Given the description of an element on the screen output the (x, y) to click on. 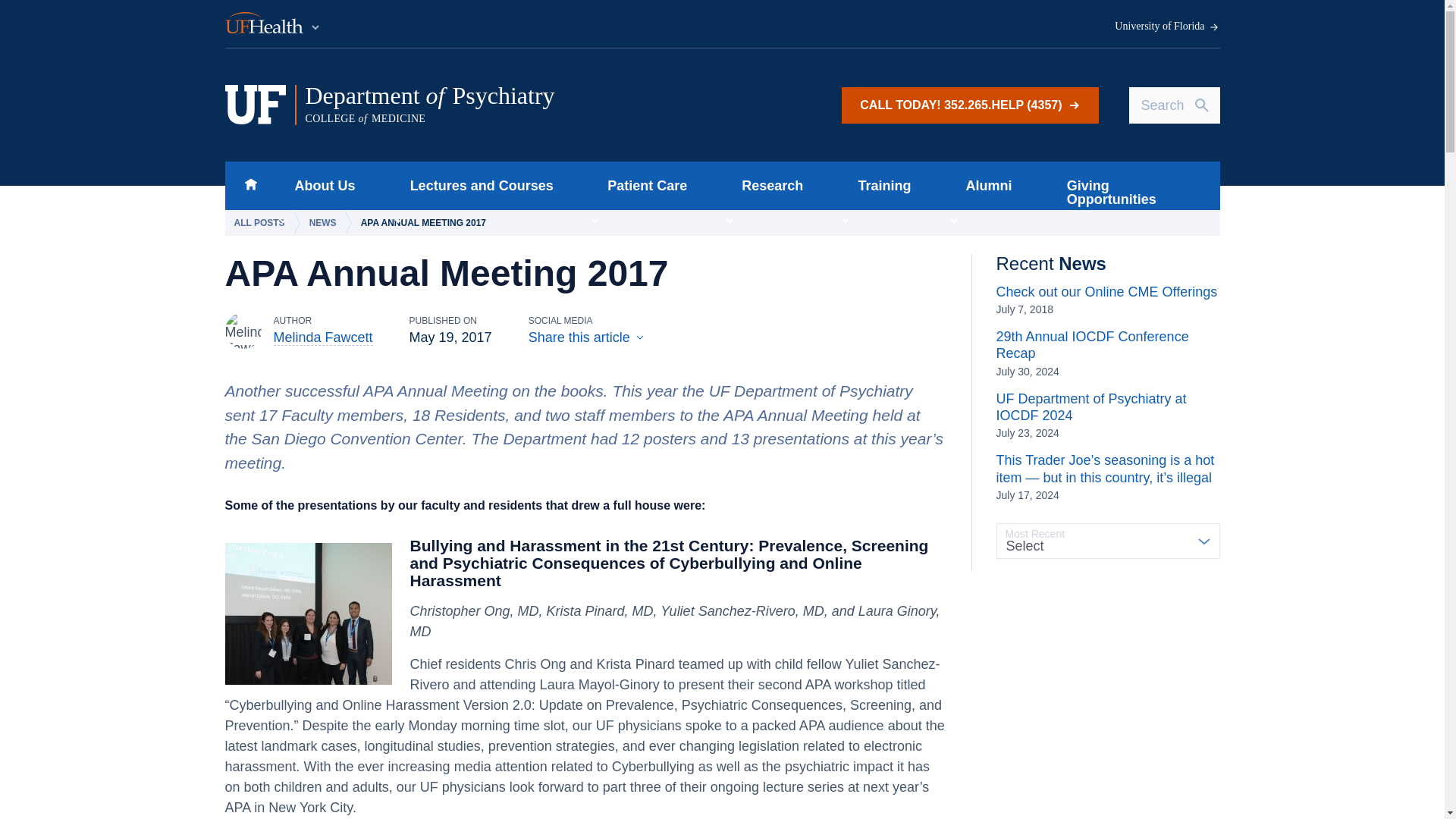
About Us (320, 185)
UF Health (272, 24)
Posts by Melinda Fawcett (322, 337)
Skip to main content (515, 105)
Home (476, 185)
University of Florida (250, 185)
